Given the description of an element on the screen output the (x, y) to click on. 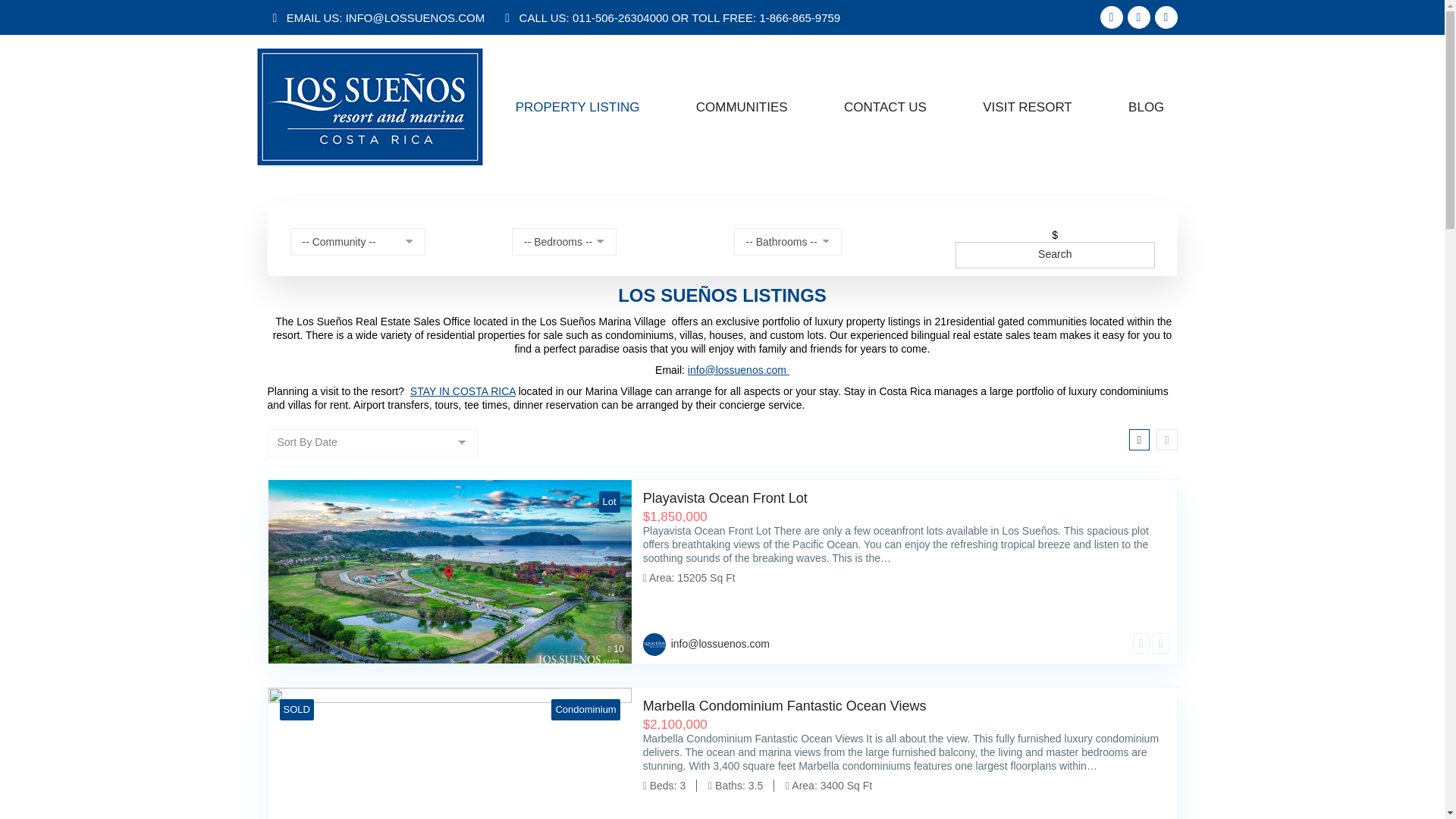
Marbella Condominium Fantastic Ocean Views (904, 706)
STAY IN COSTA RICA (462, 390)
Facebook page opens in new window (449, 571)
CONTACT US (1110, 16)
Search Listings (884, 106)
PROPERTY LISTING (331, 156)
Search (576, 106)
COMMUNITIES (1054, 254)
VISIT RESORT (741, 106)
